Given the description of an element on the screen output the (x, y) to click on. 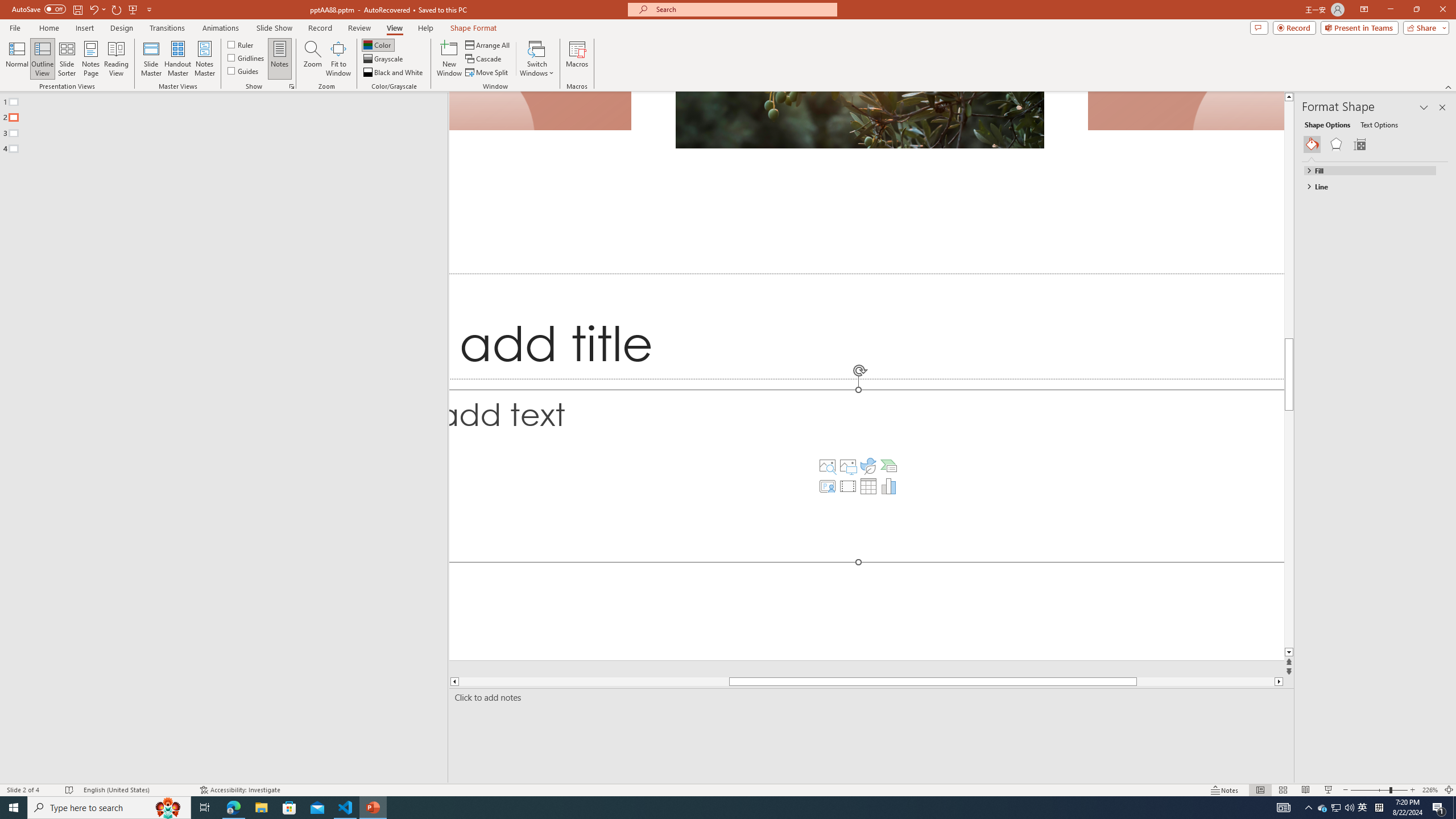
Close up of an olive branch on a sunset (859, 119)
Grid Settings... (291, 85)
Size & Properties (1359, 144)
Notes Page (90, 58)
